Given the description of an element on the screen output the (x, y) to click on. 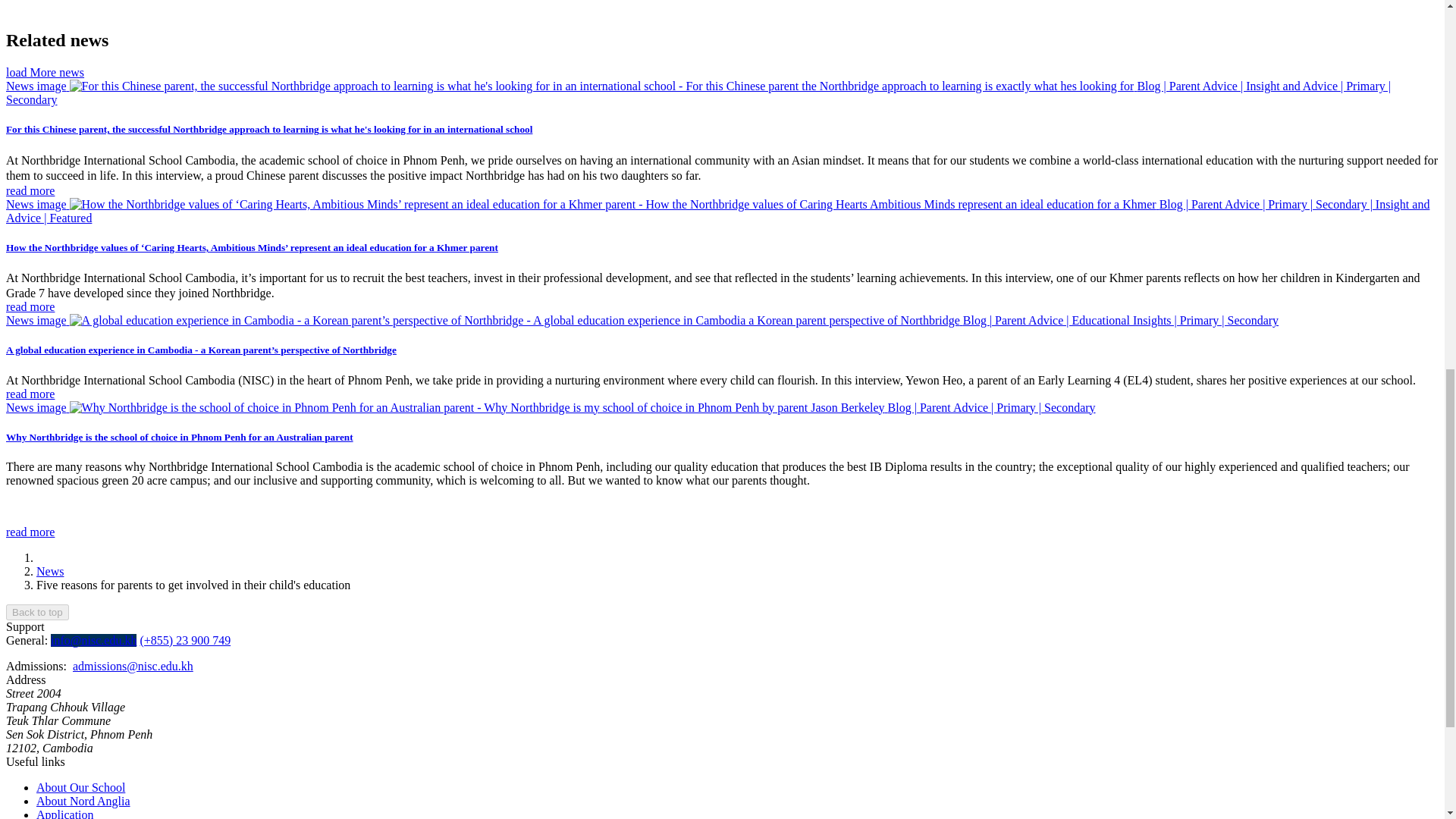
read more (30, 392)
read more (30, 306)
read more (30, 190)
read more (30, 531)
